Given the description of an element on the screen output the (x, y) to click on. 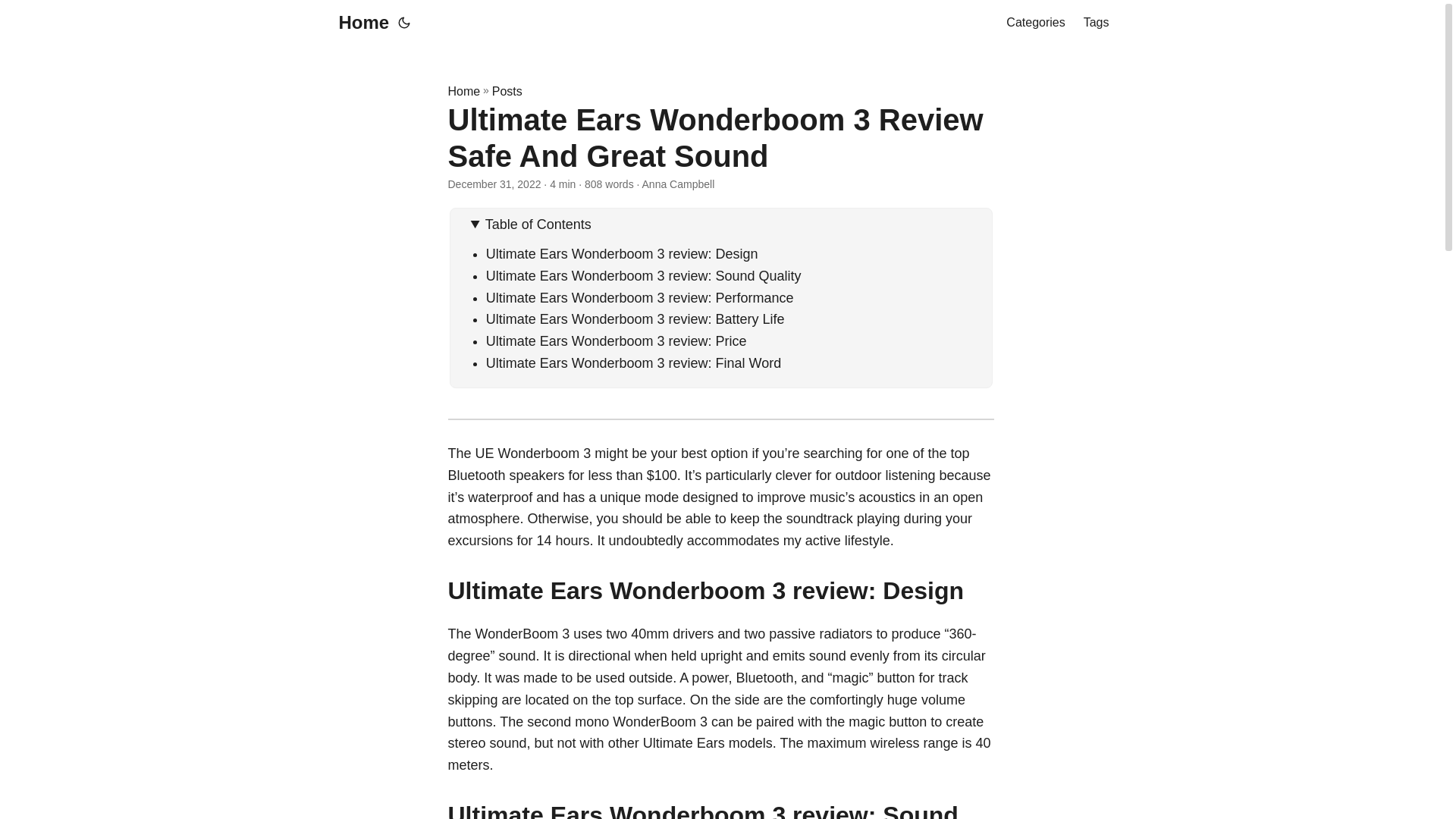
Categories (1035, 22)
Home (359, 22)
Ultimate Ears Wonderboom 3 review: Design (622, 253)
Categories (1035, 22)
Home (463, 91)
Ultimate Ears Wonderboom 3 review: Final Word (633, 363)
Ultimate Ears Wonderboom 3 review: Sound Quality (644, 275)
Ultimate Ears Wonderboom 3 review: Price (616, 340)
Posts (507, 91)
Ultimate Ears Wonderboom 3 review: Battery Life (635, 319)
Ultimate Ears Wonderboom 3 review: Performance (639, 297)
